Given the description of an element on the screen output the (x, y) to click on. 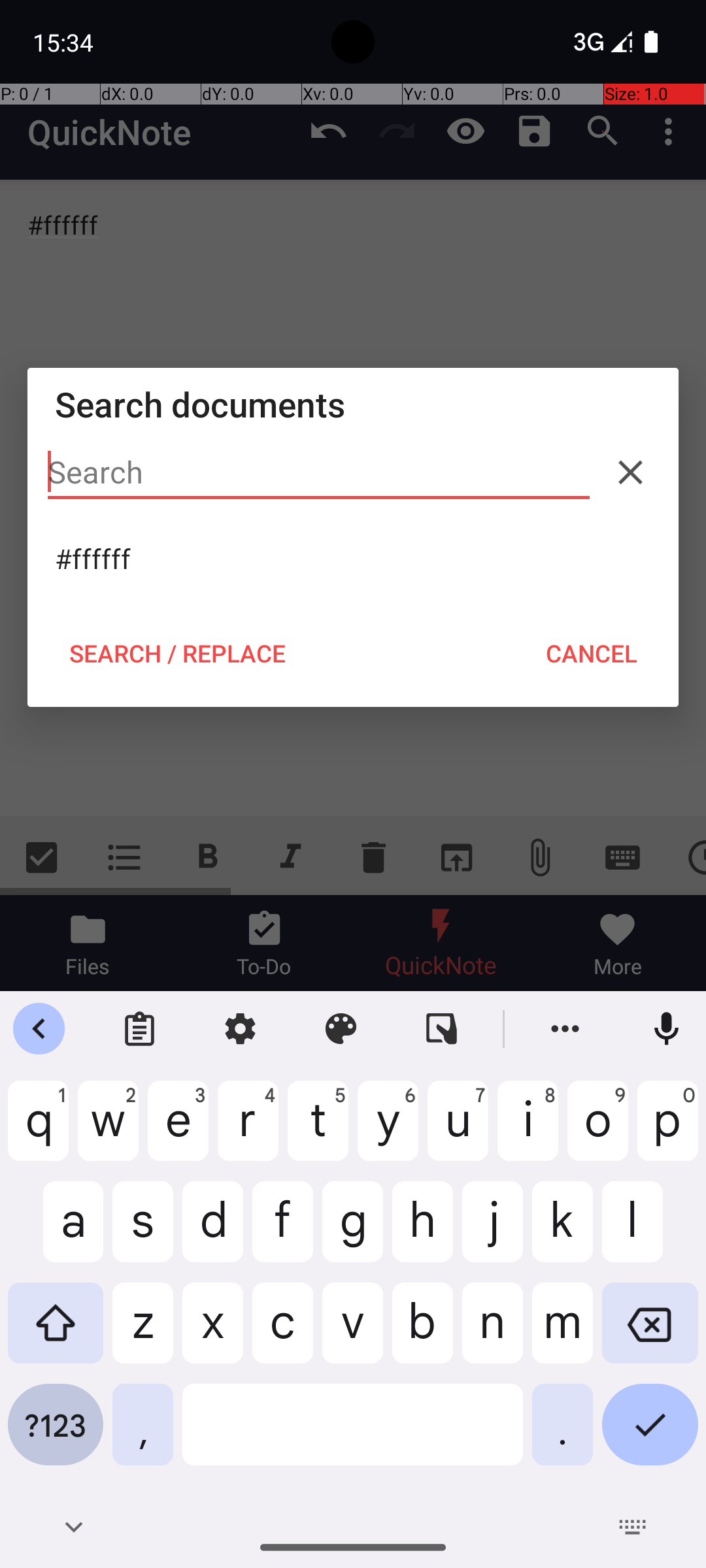
Search documents Element type: android.widget.TextView (352, 403)
#ffffff Element type: android.widget.TextView (352, 558)
SEARCH / REPLACE Element type: android.widget.Button (176, 652)
Theme settings Element type: android.widget.FrameLayout (340, 1028)
One handed mode Element type: android.widget.FrameLayout (441, 1028)
